Given the description of an element on the screen output the (x, y) to click on. 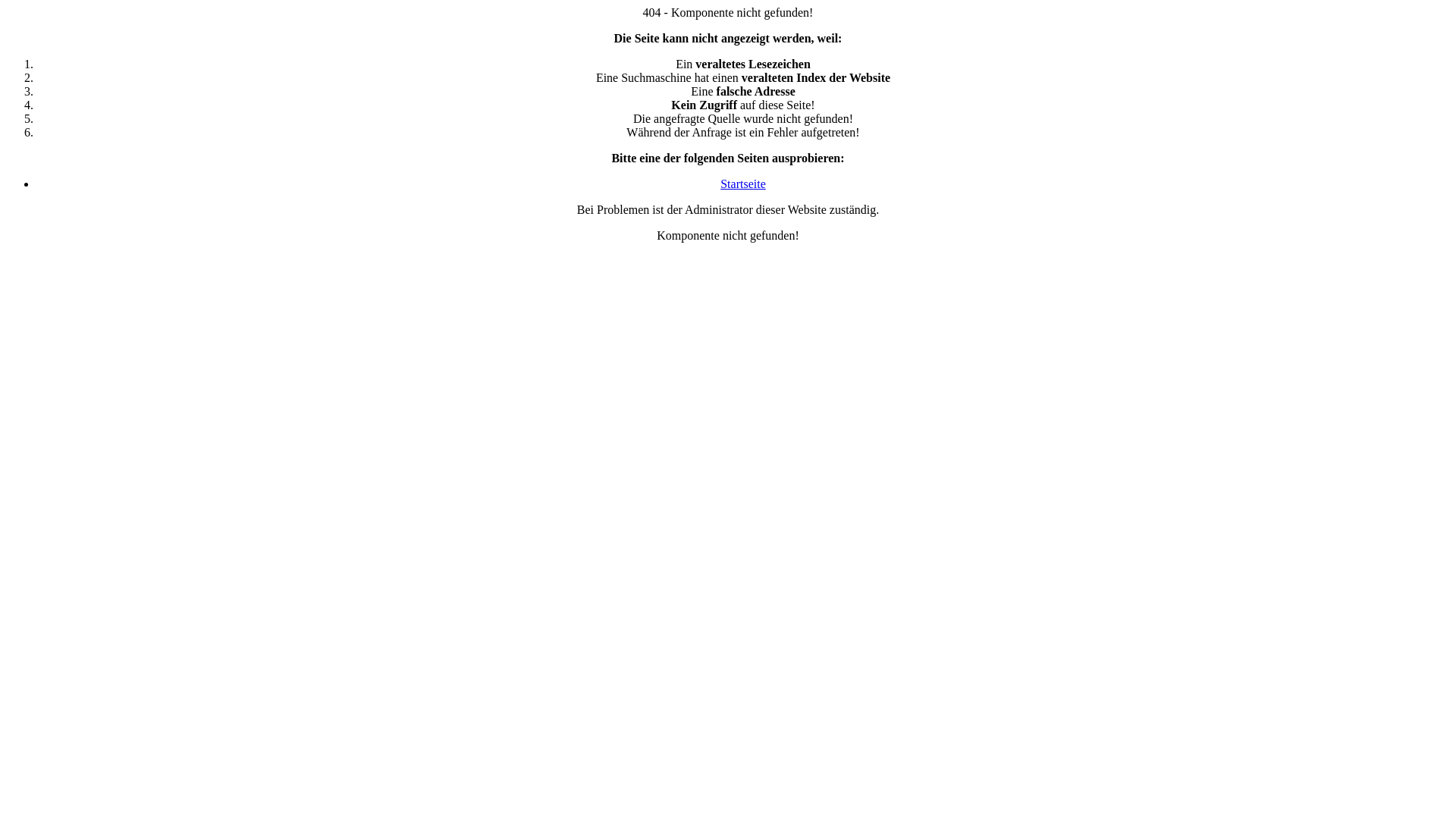
Startseite Element type: text (742, 183)
